Given the description of an element on the screen output the (x, y) to click on. 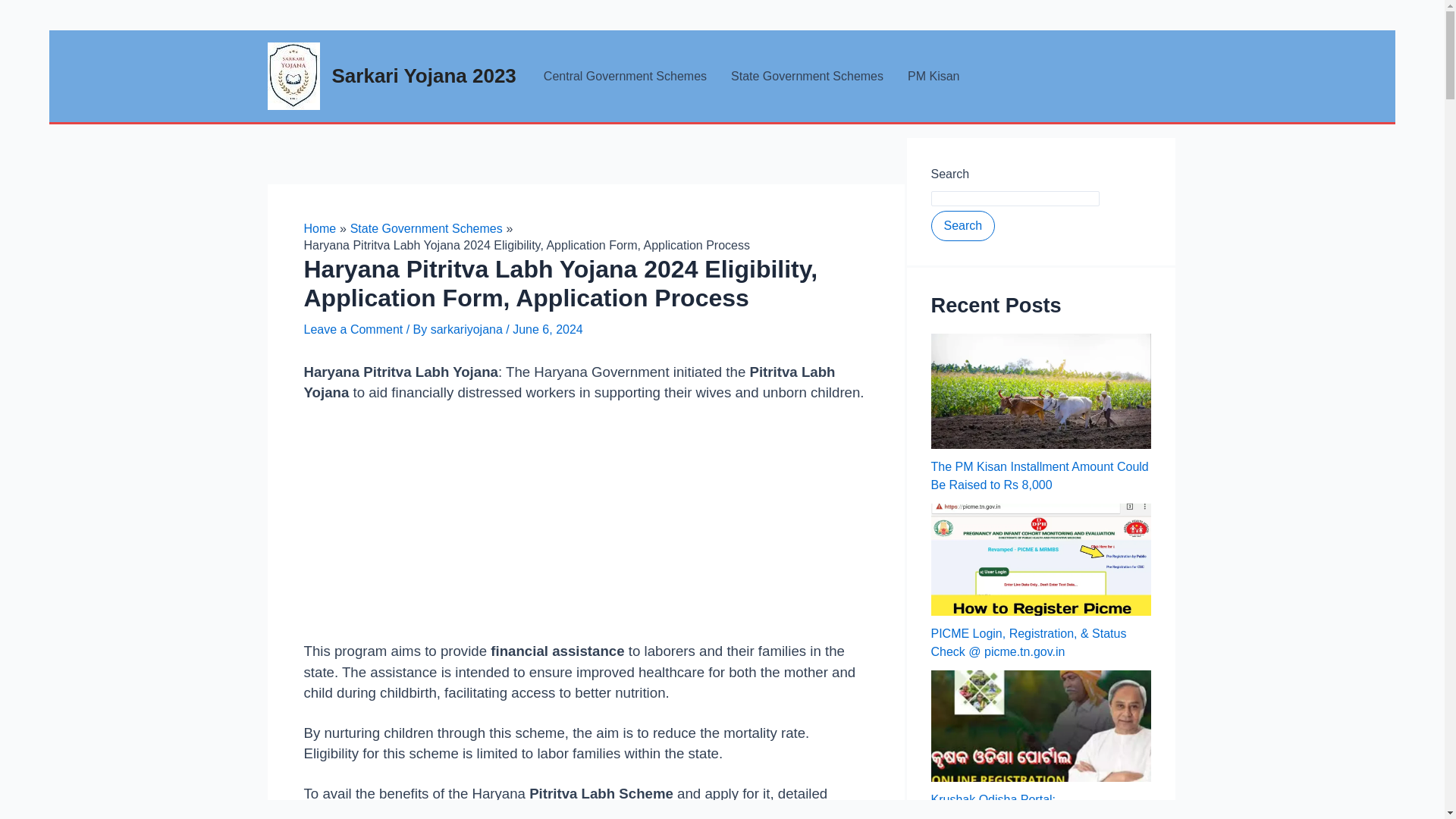
Home (319, 228)
Leave a Comment (352, 328)
Central Government Schemes (625, 76)
View all posts by sarkariyojana (468, 328)
PM Kisan (933, 76)
State Government Schemes (426, 228)
sarkariyojana (468, 328)
State Government Schemes (807, 76)
Sarkari Yojana 2023 (423, 75)
Advertisement (584, 529)
